Given the description of an element on the screen output the (x, y) to click on. 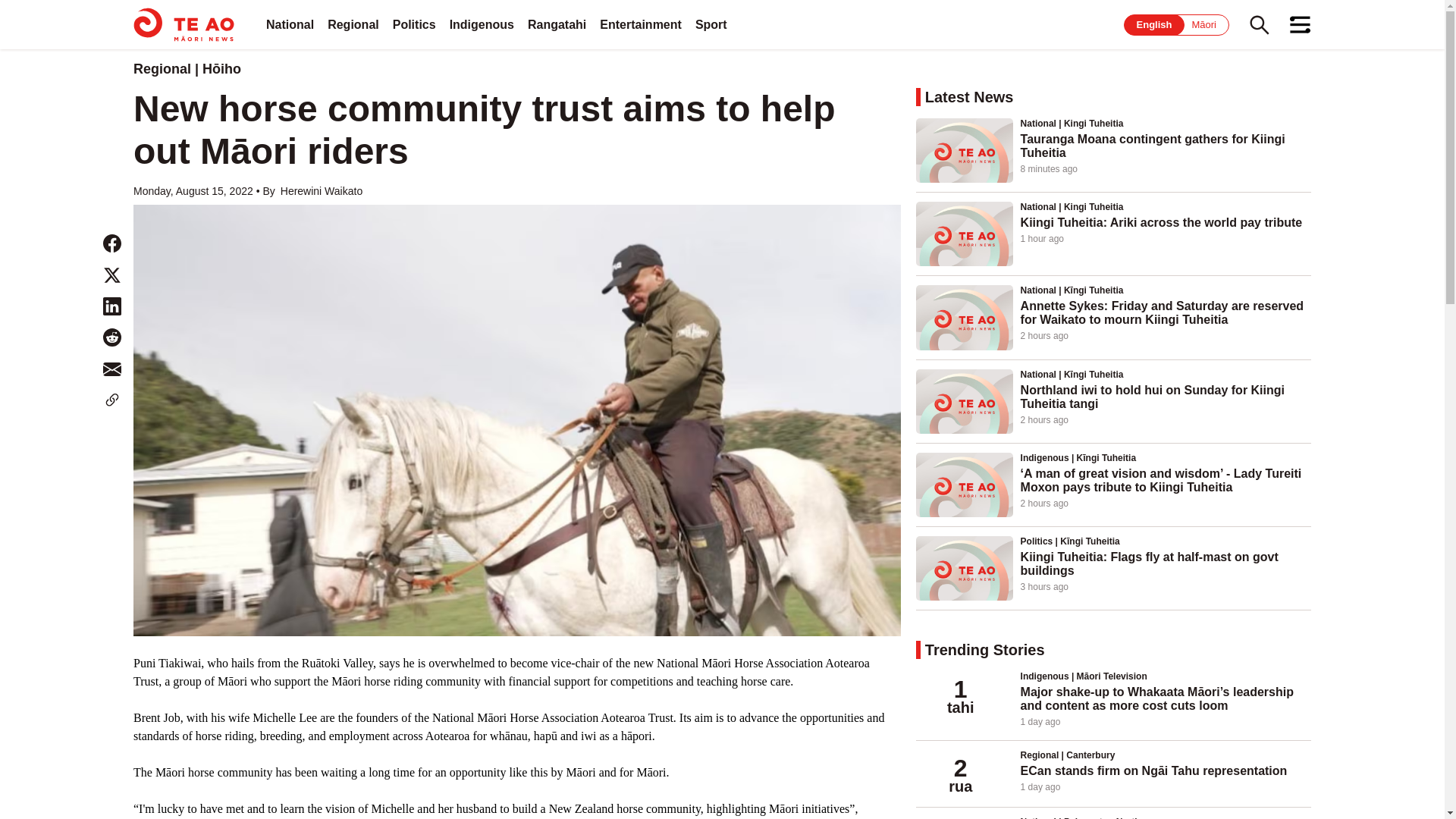
Entertainment (640, 24)
Indigenous (481, 24)
Politics (414, 24)
Regional (352, 24)
Sport (710, 24)
English (1154, 24)
National (290, 24)
Rangatahi (556, 24)
Copy SocialLink (111, 399)
